Given the description of an element on the screen output the (x, y) to click on. 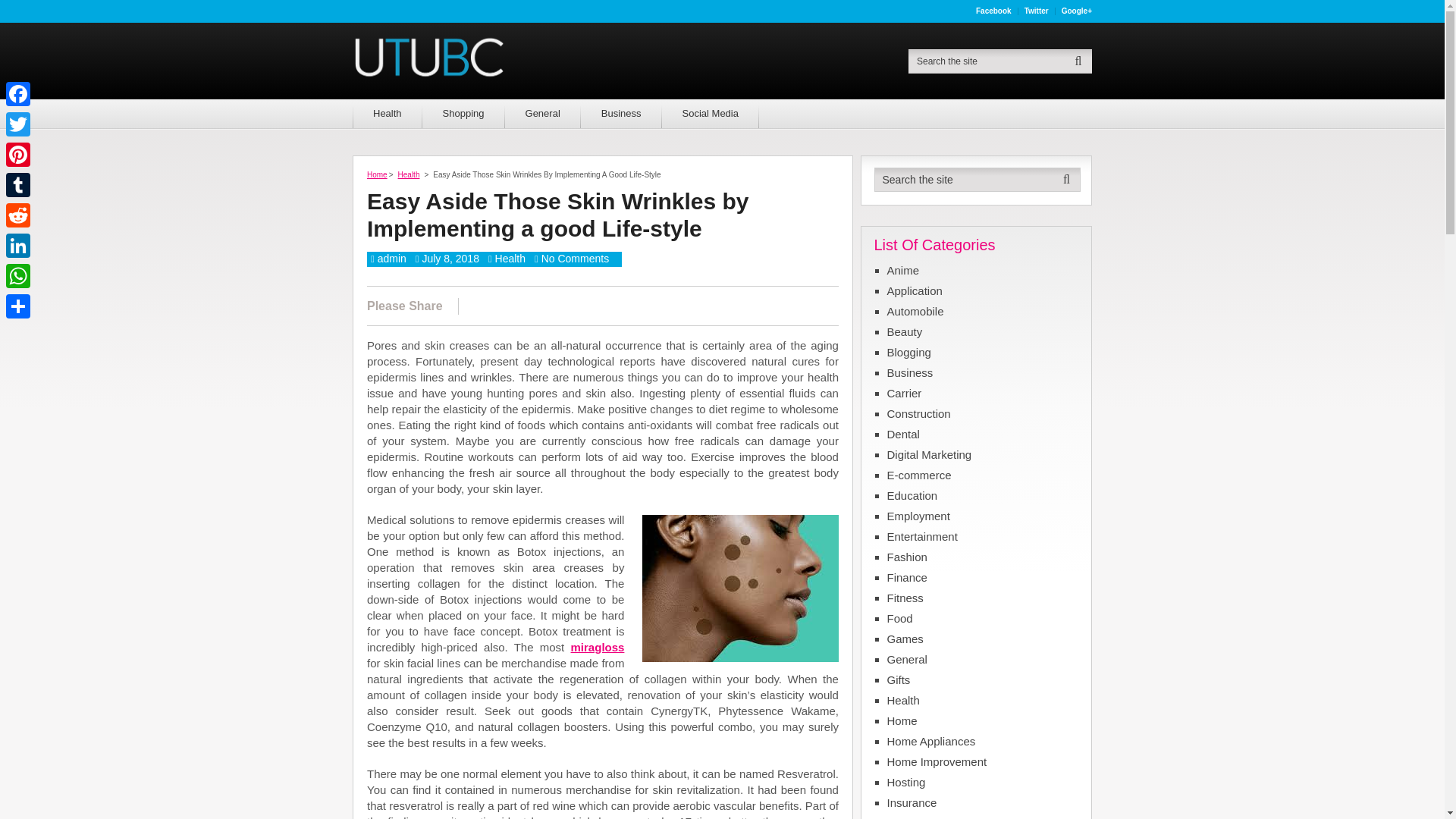
Facebook (993, 11)
Business (621, 113)
Home (376, 174)
General (542, 113)
Health (510, 258)
Posts by admin (391, 258)
Health (408, 174)
miragloss (597, 646)
No Comments (574, 258)
Twitter (1036, 11)
Shopping (463, 113)
Social Media (710, 113)
admin (391, 258)
Health (387, 113)
View all posts in Health (510, 258)
